Given the description of an element on the screen output the (x, y) to click on. 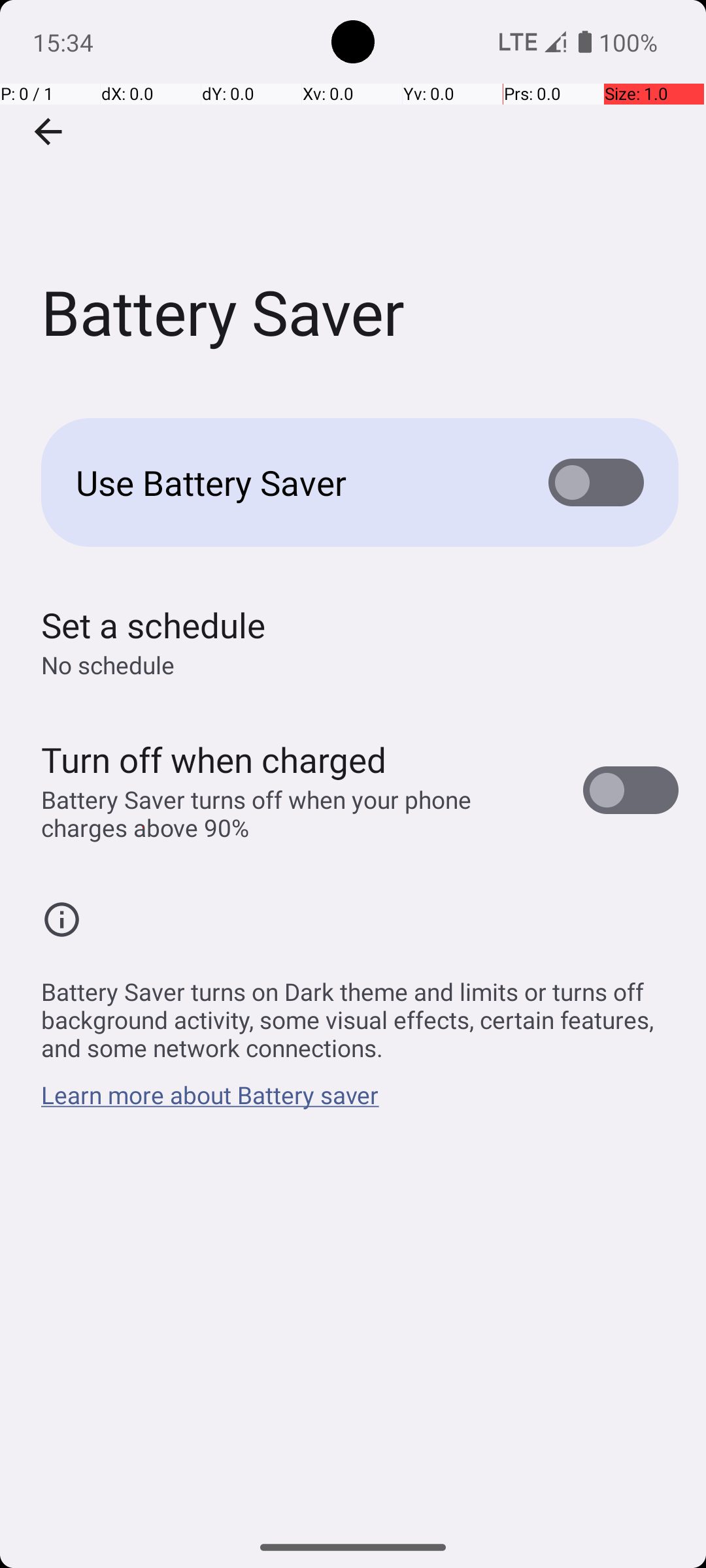
Use Battery Saver Element type: android.widget.TextView (291, 482)
Set a schedule Element type: android.widget.TextView (153, 624)
No schedule Element type: android.widget.TextView (107, 664)
Turn off when charged Element type: android.widget.TextView (213, 759)
Battery Saver turns off when your phone charges above 90% Element type: android.widget.TextView (298, 813)
Battery Saver turns on Dark theme and limits or turns off background activity, some visual effects, certain features, and some network connections. Element type: android.widget.TextView (359, 1012)
Learn more about Battery saver Element type: android.widget.TextView (210, 1101)
